Given the description of an element on the screen output the (x, y) to click on. 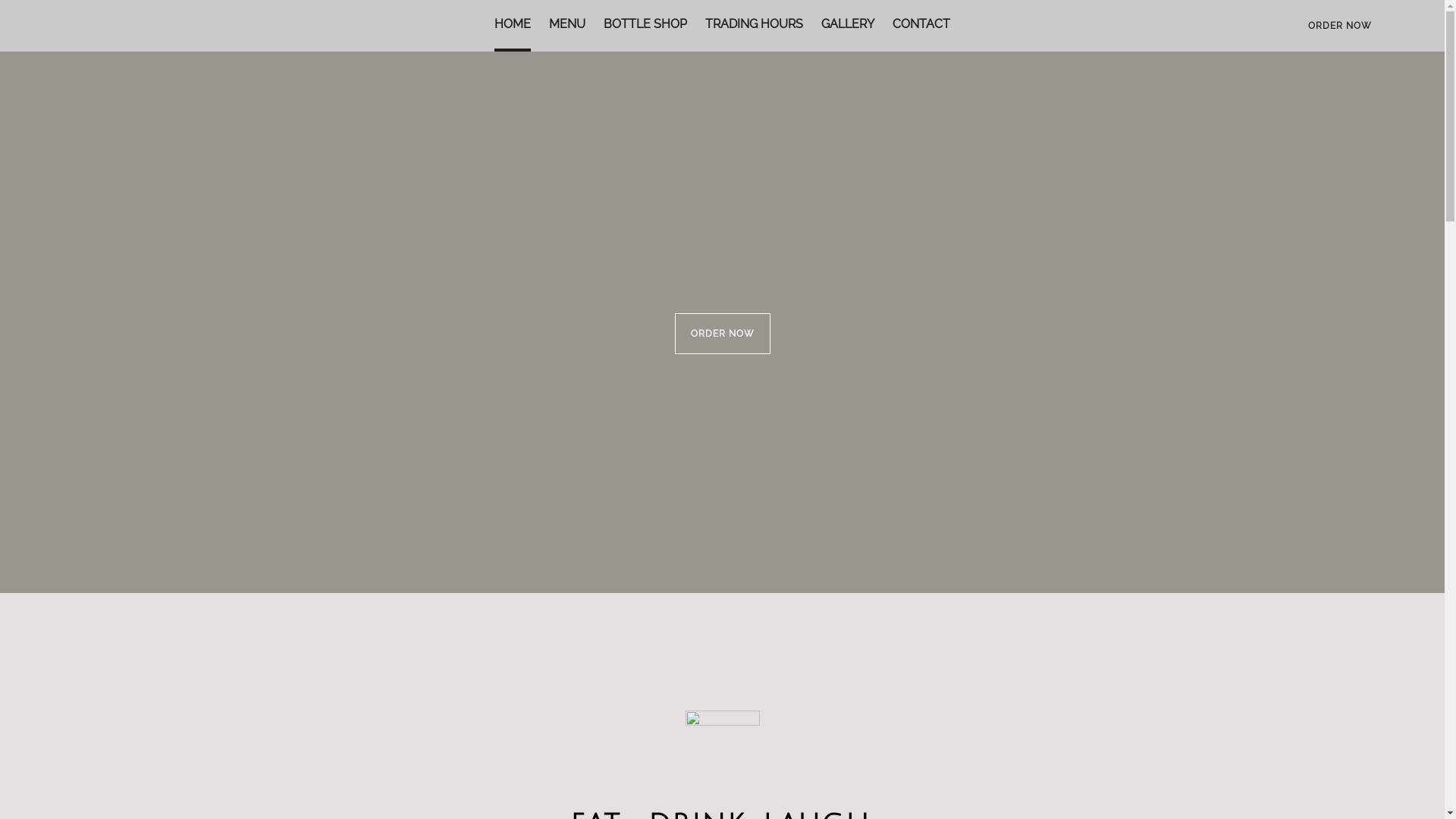
TRADING HOURS Element type: text (754, 25)
CONTACT Element type: text (921, 25)
BOTTLE SHOP Element type: text (645, 25)
HOME Element type: text (512, 25)
ORDER NOW Element type: text (722, 333)
MENU Element type: text (567, 25)
ORDER NOW Element type: text (1339, 25)
GALLERY Element type: text (847, 25)
